Given the description of an element on the screen output the (x, y) to click on. 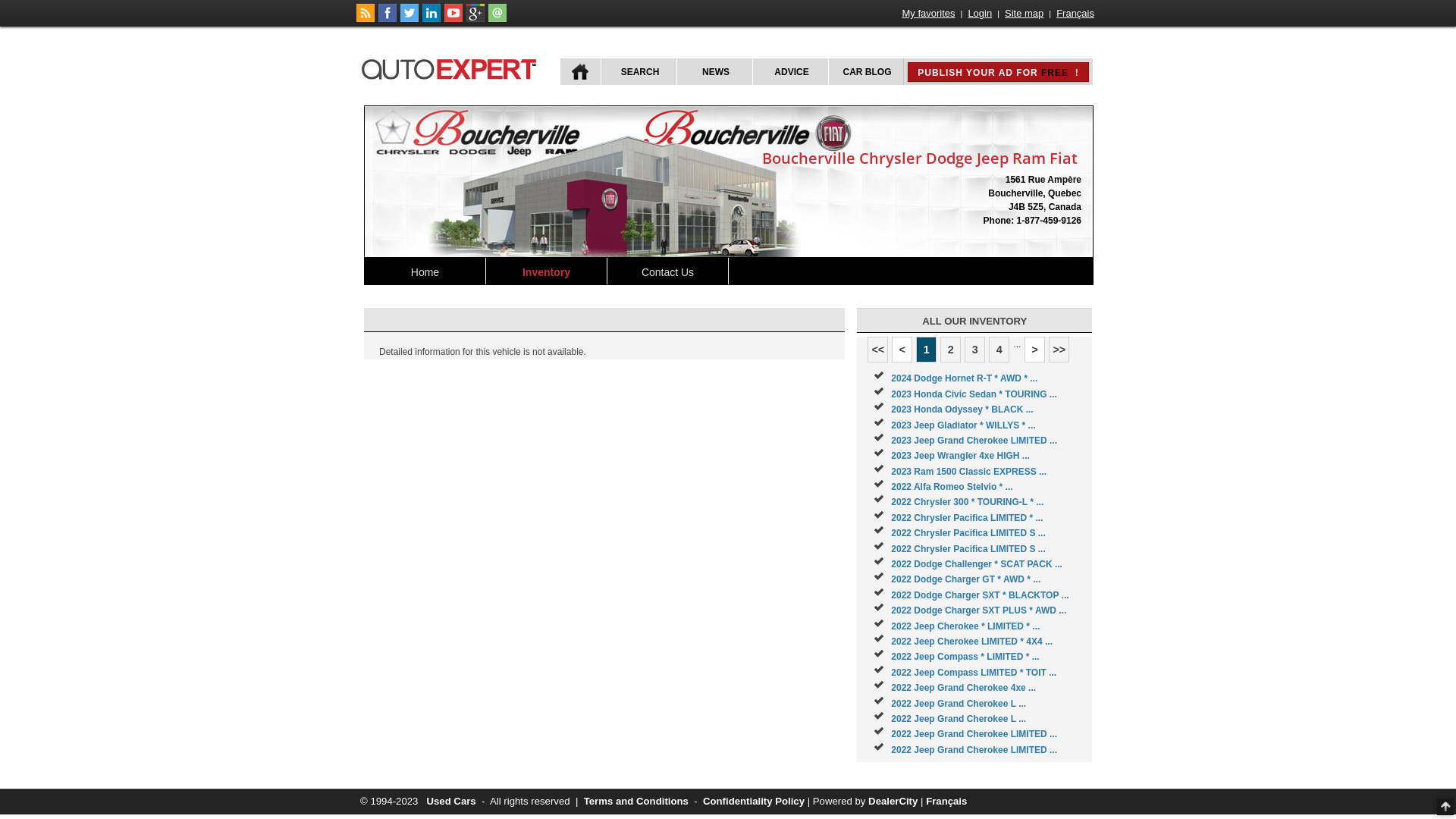
DealerCity Element type: text (892, 800)
SEARCH Element type: text (638, 71)
ADVICE Element type: text (790, 71)
2022 Jeep Cherokee * LIMITED * ... Element type: text (965, 626)
2022 Jeep Cherokee LIMITED * 4X4 ... Element type: text (971, 641)
Terms and Conditions Element type: text (635, 800)
Follow car news on autoExpert.ca Element type: hover (365, 18)
HOME Element type: text (580, 71)
2023 Honda Civic Sedan * TOURING ... Element type: text (974, 394)
Inventory Element type: text (546, 270)
2022 Dodge Charger GT * AWD * ... Element type: text (965, 579)
2023 Jeep Wrangler 4xe HIGH ... Element type: text (960, 455)
2022 Jeep Compass * LIMITED * ... Element type: text (964, 656)
Follow Publications Le Guide Inc. on LinkedIn Element type: hover (431, 18)
< Element type: text (901, 349)
1 Element type: text (926, 349)
Site map Element type: text (1023, 13)
2022 Chrysler Pacifica LIMITED * ... Element type: text (966, 517)
Follow autoExpert.ca on Youtube Element type: hover (453, 18)
PUBLISH YOUR AD FOR FREE  ! Element type: text (997, 71)
My favorites Element type: text (928, 13)
Used Cars Element type: text (450, 800)
autoExpert.ca Element type: text (451, 66)
2022 Jeep Grand Cherokee LIMITED ... Element type: text (974, 749)
2023 Jeep Gladiator * WILLYS * ... Element type: text (963, 425)
Follow autoExpert.ca on Google Plus Element type: hover (475, 18)
2024 Dodge Hornet R-T * AWD * ... Element type: text (964, 378)
Follow autoExpert.ca on Facebook Element type: hover (387, 18)
2022 Jeep Grand Cherokee LIMITED ... Element type: text (974, 733)
<< Element type: text (877, 349)
Follow autoExpert.ca on Twitter Element type: hover (409, 18)
2022 Chrysler 300 * TOURING-L * ... Element type: text (967, 501)
>> Element type: text (1058, 349)
2022 Dodge Charger SXT PLUS * AWD ... Element type: text (978, 610)
2022 Dodge Charger SXT * BLACKTOP ... Element type: text (979, 594)
2 Element type: text (950, 349)
NEWS Element type: text (714, 71)
CAR BLOG Element type: text (865, 71)
Home Element type: text (425, 270)
2022 Chrysler Pacifica LIMITED S ... Element type: text (967, 548)
2022 Chrysler Pacifica LIMITED S ... Element type: text (967, 532)
2022 Jeep Grand Cherokee L ... Element type: text (958, 718)
2022 Jeep Grand Cherokee 4xe ... Element type: text (963, 687)
2023 Jeep Grand Cherokee LIMITED ... Element type: text (974, 440)
2022 Alfa Romeo Stelvio * ... Element type: text (951, 486)
4 Element type: text (998, 349)
2022 Jeep Compass LIMITED * TOIT ... Element type: text (973, 672)
2023 Ram 1500 Classic EXPRESS ... Element type: text (968, 471)
Contact Us Element type: text (667, 270)
2022 Jeep Grand Cherokee L ... Element type: text (958, 703)
> Element type: text (1034, 349)
Confidentiality Policy Element type: text (753, 800)
Contact autoExpert.ca Element type: hover (497, 18)
2023 Honda Odyssey * BLACK ... Element type: text (961, 409)
2022 Dodge Challenger * SCAT PACK ... Element type: text (976, 563)
Login Element type: text (979, 13)
3 Element type: text (974, 349)
